Given the description of an element on the screen output the (x, y) to click on. 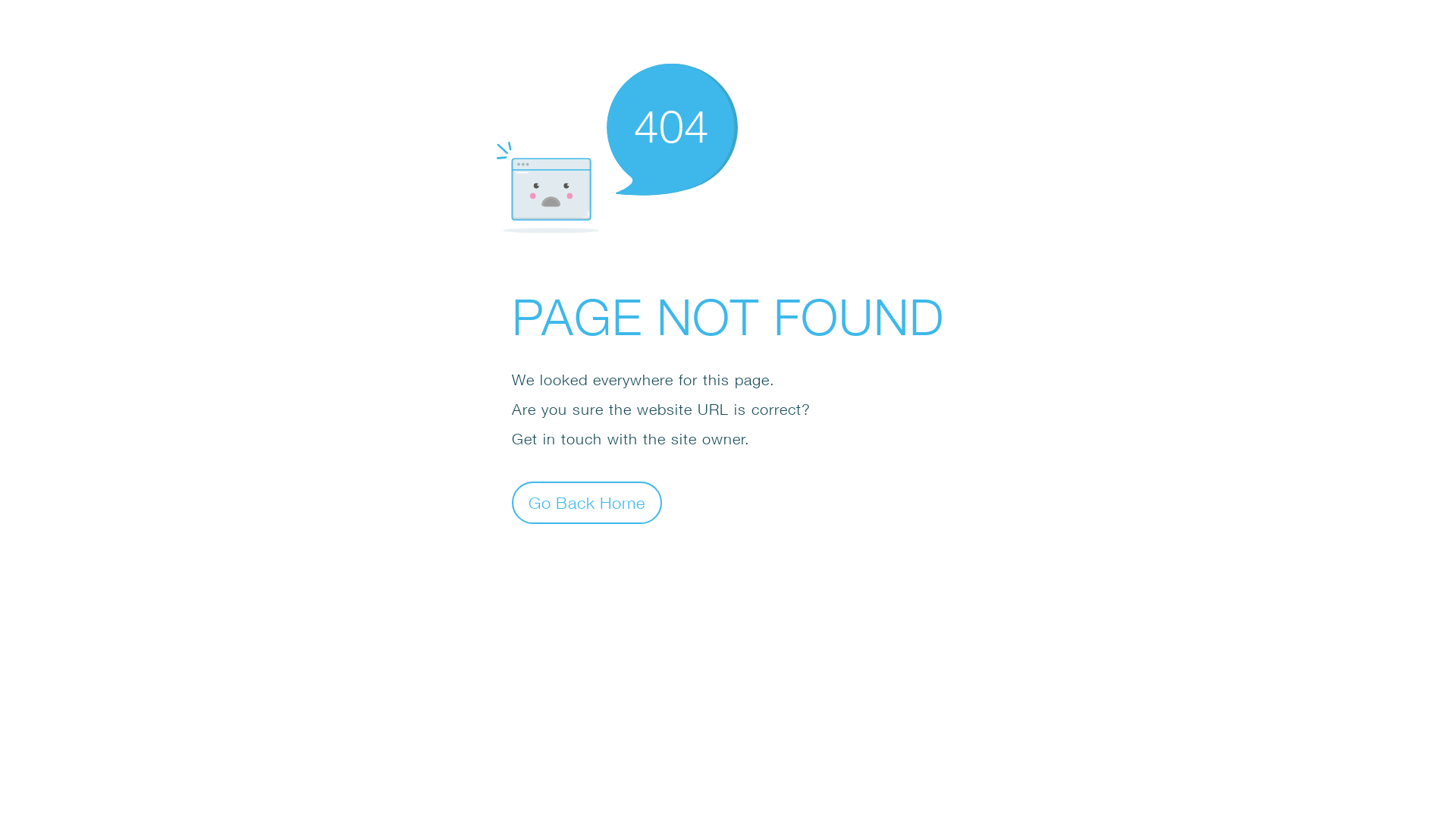
Go Back Home Element type: text (586, 502)
